Given the description of an element on the screen output the (x, y) to click on. 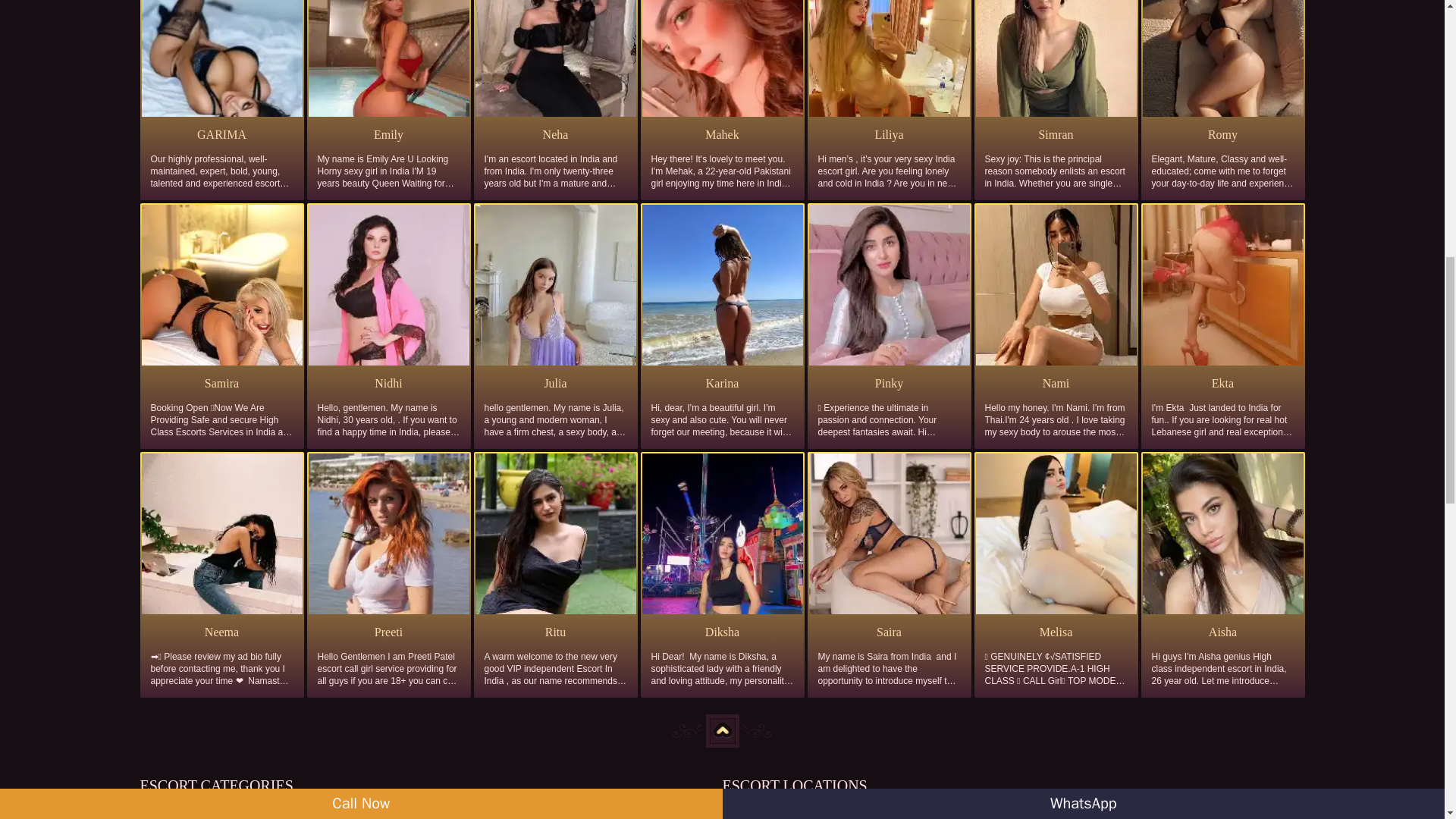
Mahek (722, 135)
Mahek India Escort Call Girl (722, 135)
Julia (554, 383)
Karina (722, 383)
Nidhi (387, 383)
Preeti India Escort Call Girl (387, 632)
Pinky India Escort Call Girl (888, 383)
Emily India Escort Call Girl (387, 135)
Romy India Escort Call Girl (1222, 135)
Nami (1055, 383)
Ekta India Escort Call Girl (1222, 383)
Saira India Escort Call Girl (888, 632)
Diksha India Escort Call Girl (722, 632)
Emily (387, 135)
Ritu India Escort Call Girl (554, 632)
